Given the description of an element on the screen output the (x, y) to click on. 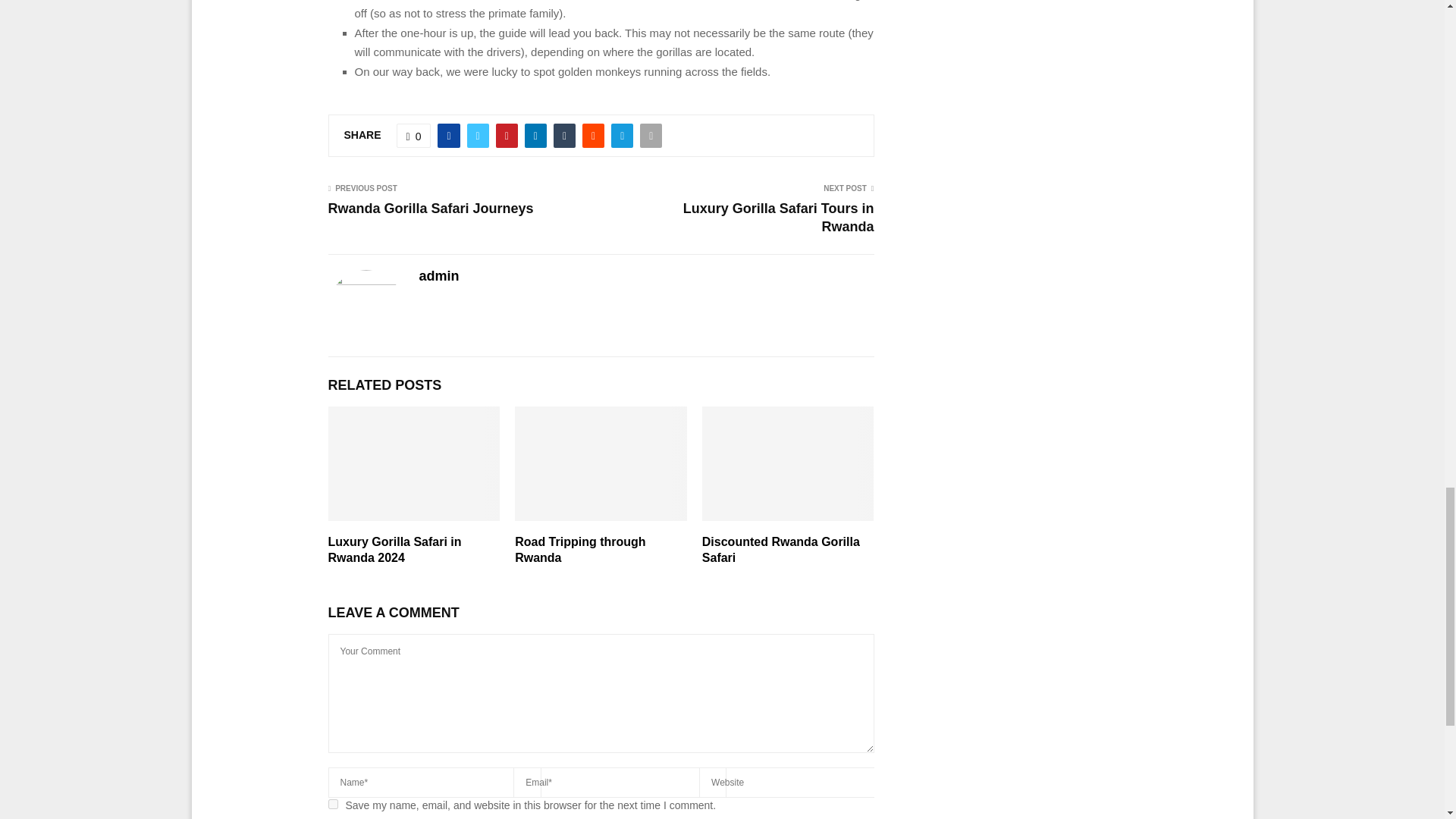
Like (413, 135)
0 (413, 135)
yes (332, 804)
